Given the description of an element on the screen output the (x, y) to click on. 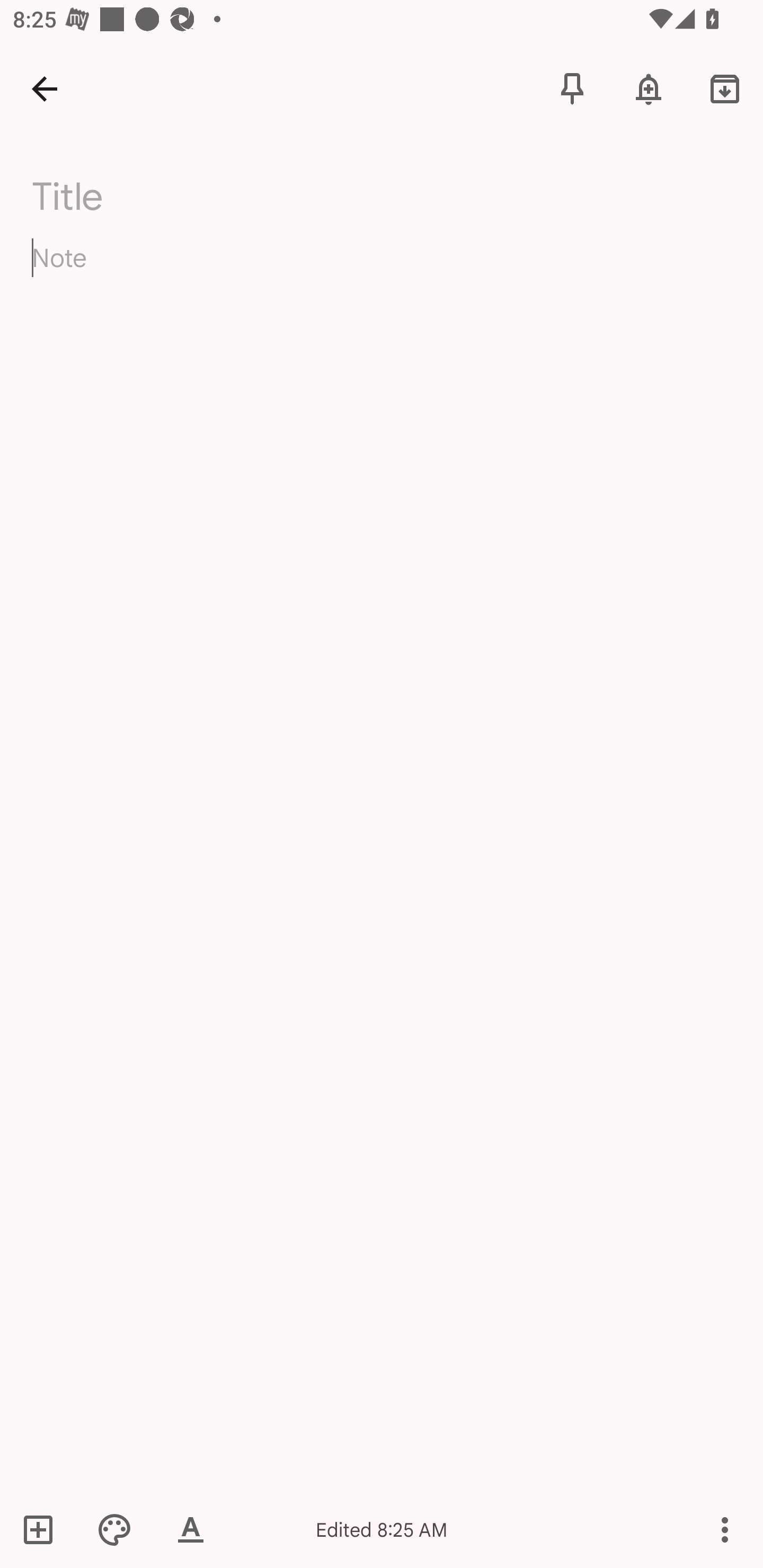
Navigate up (44, 88)
Pin (572, 88)
Reminder (648, 88)
Archive (724, 88)
.  (193, 192)
Note (381, 273)
New list (44, 1529)
Theme (114, 1529)
Show formatting controls (190, 1529)
Action (724, 1529)
